Given the description of an element on the screen output the (x, y) to click on. 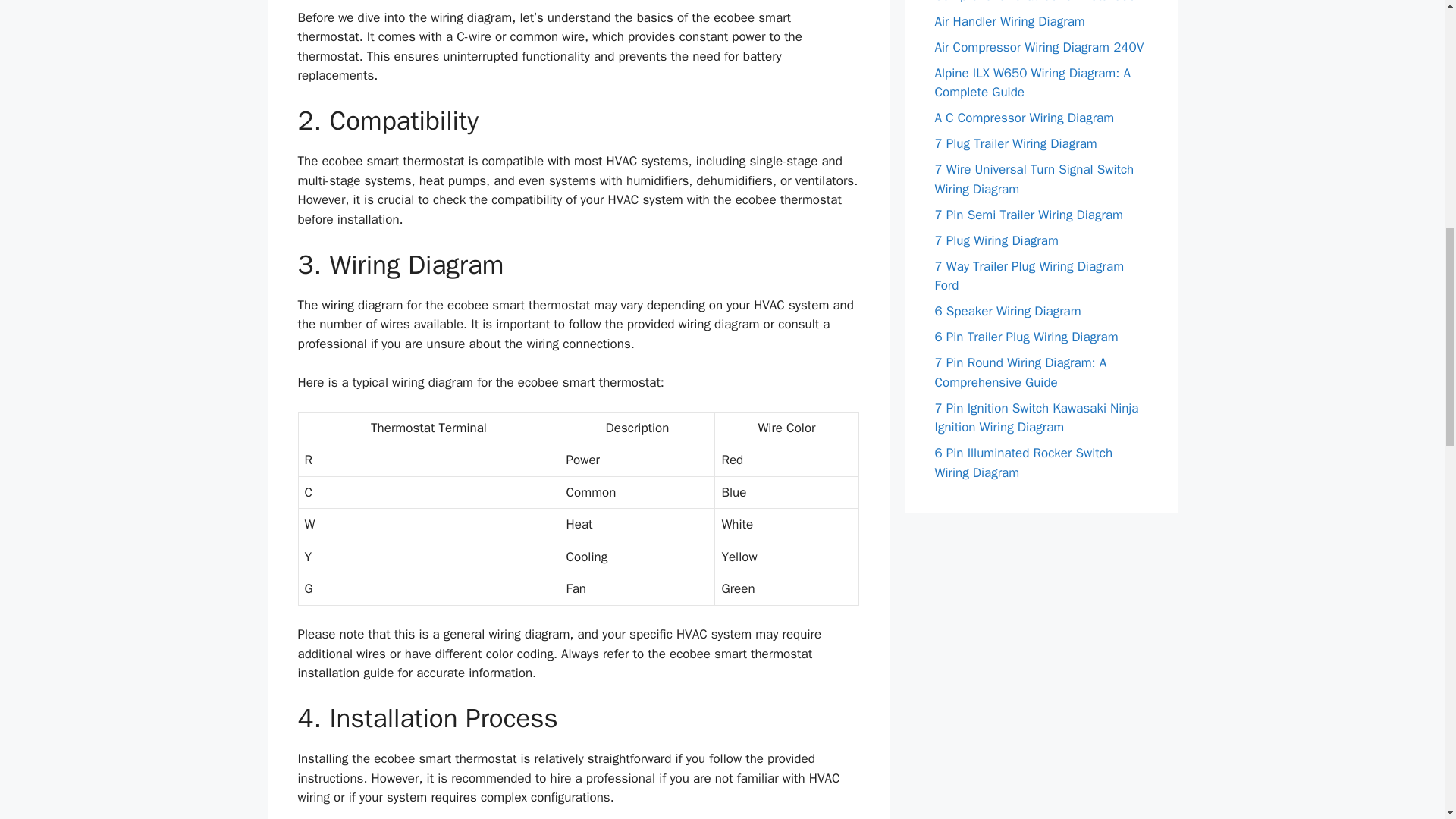
Alpine ILX W650 Wiring Diagram: A Complete Guide (1031, 82)
Air Handler Wiring Diagram (1009, 21)
Air Compressor Wiring Diagram 240V (1038, 47)
A C Compressor Wiring Diagram (1023, 117)
